Given the description of an element on the screen output the (x, y) to click on. 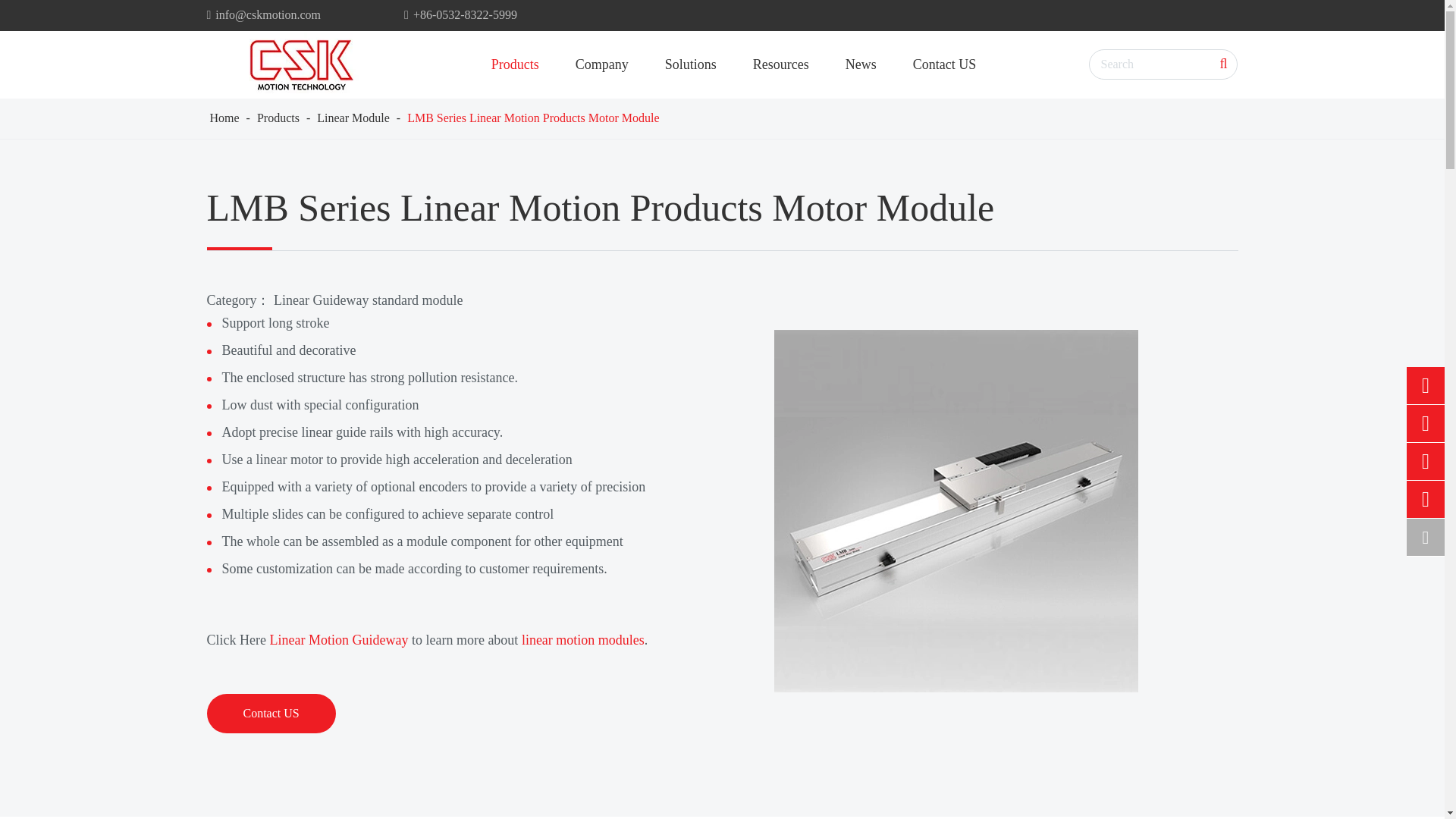
Products (515, 64)
LMB Series Linear Motion Products Motor Module (533, 117)
Linear Module (353, 117)
Products (278, 117)
LMB Series Linear Motion Products Motor Module (955, 511)
Qingdao CSK Motion Technology Co., Ltd. (301, 64)
